Given the description of an element on the screen output the (x, y) to click on. 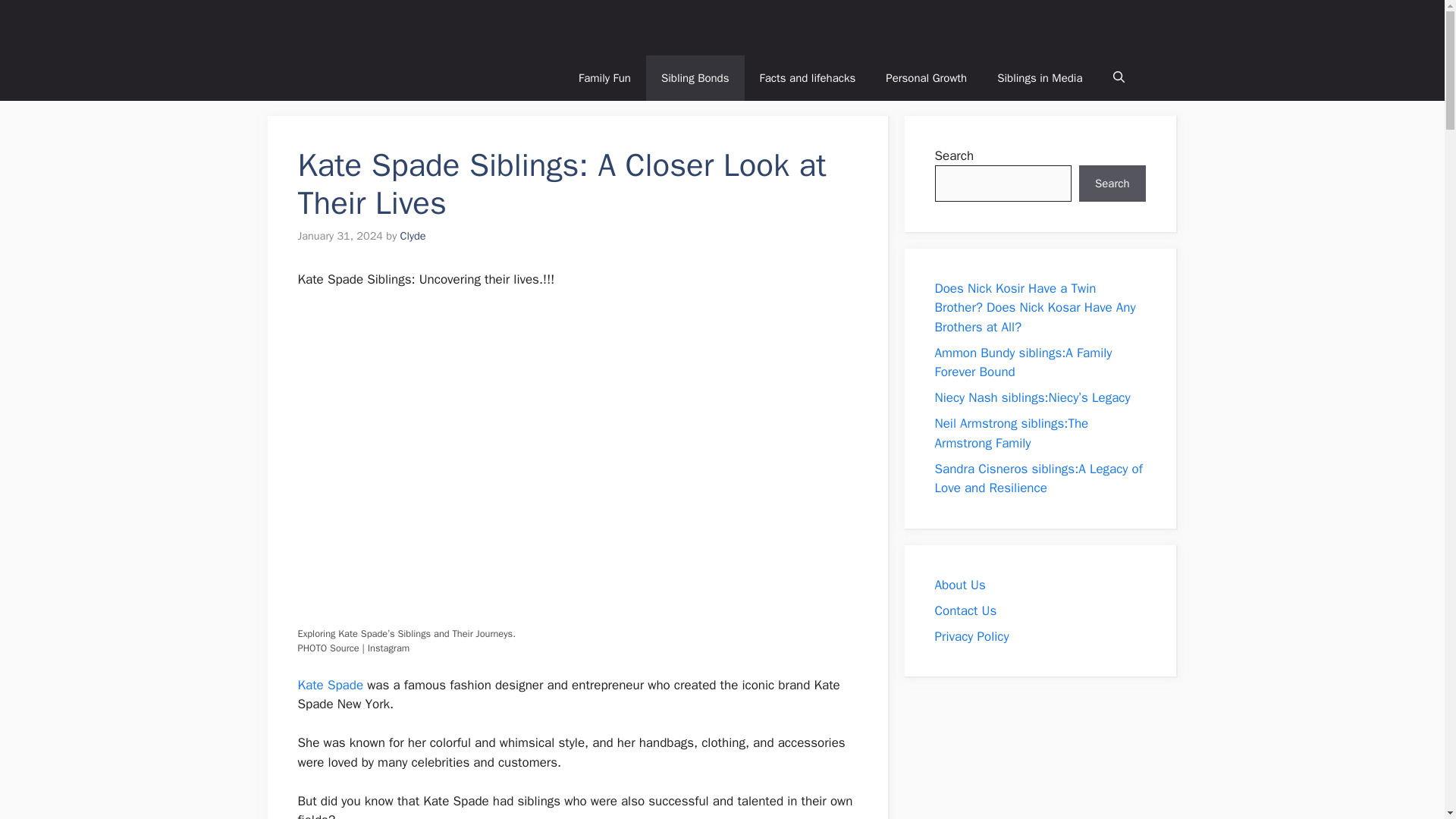
Clyde (413, 235)
Siblingspedia (983, 27)
Personal Growth (925, 76)
Facts and lifehacks (807, 76)
Search (1111, 183)
Siblingspedia (983, 24)
Sibling Bonds (695, 76)
Siblings in Media (1039, 76)
Kate Spade (329, 684)
Family Fun (604, 76)
View all posts by Clyde (413, 235)
